Given the description of an element on the screen output the (x, y) to click on. 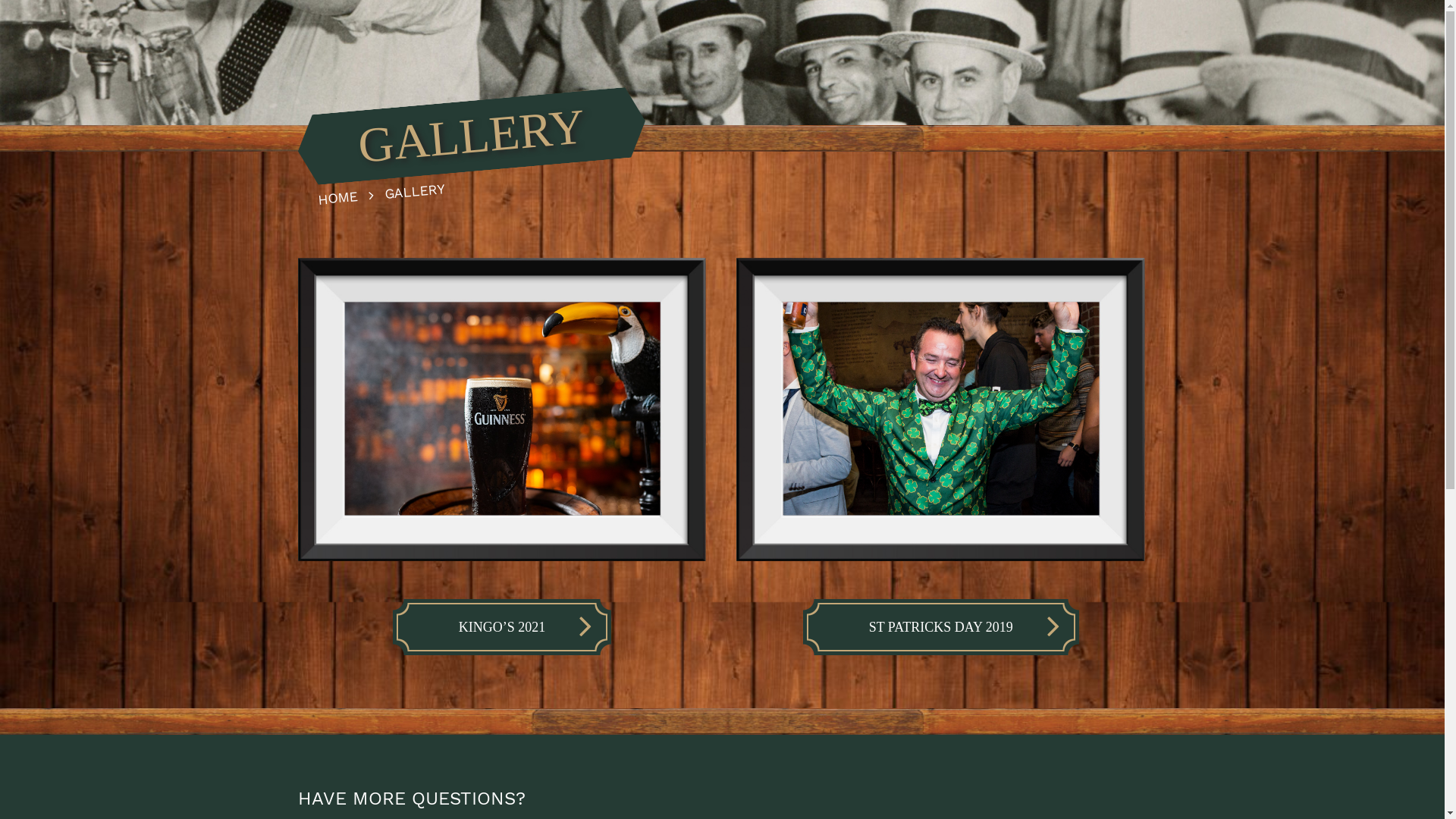
HOME Element type: text (349, 193)
ST PATRICKS DAY 2019 Element type: text (940, 626)
GALLERY Element type: text (413, 188)
